Given the description of an element on the screen output the (x, y) to click on. 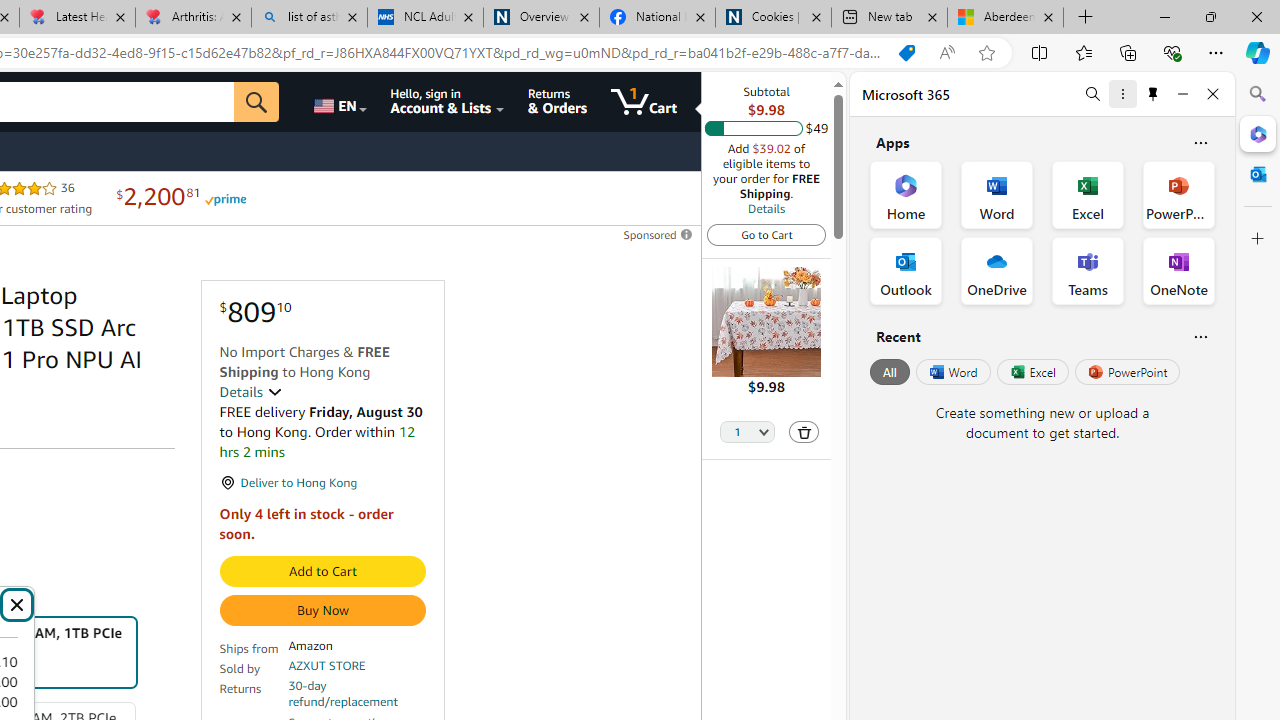
PowerPoint Office App (1178, 194)
1 item in cart (643, 101)
Quantity Selector (747, 433)
Returns & Orders (557, 101)
Word (952, 372)
Home Office App (906, 194)
All (890, 372)
